Given the description of an element on the screen output the (x, y) to click on. 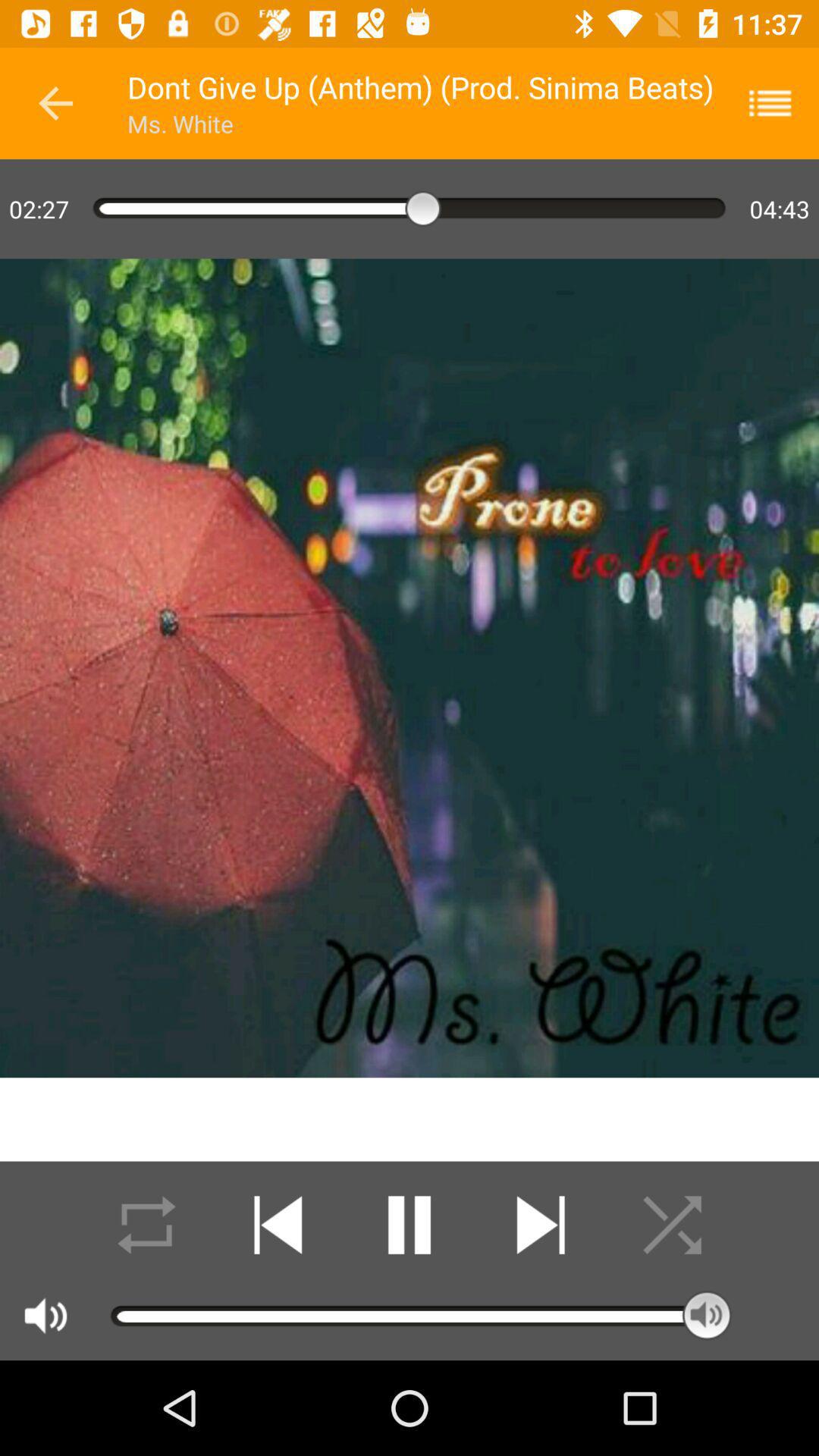
fast forward (540, 1224)
